Given the description of an element on the screen output the (x, y) to click on. 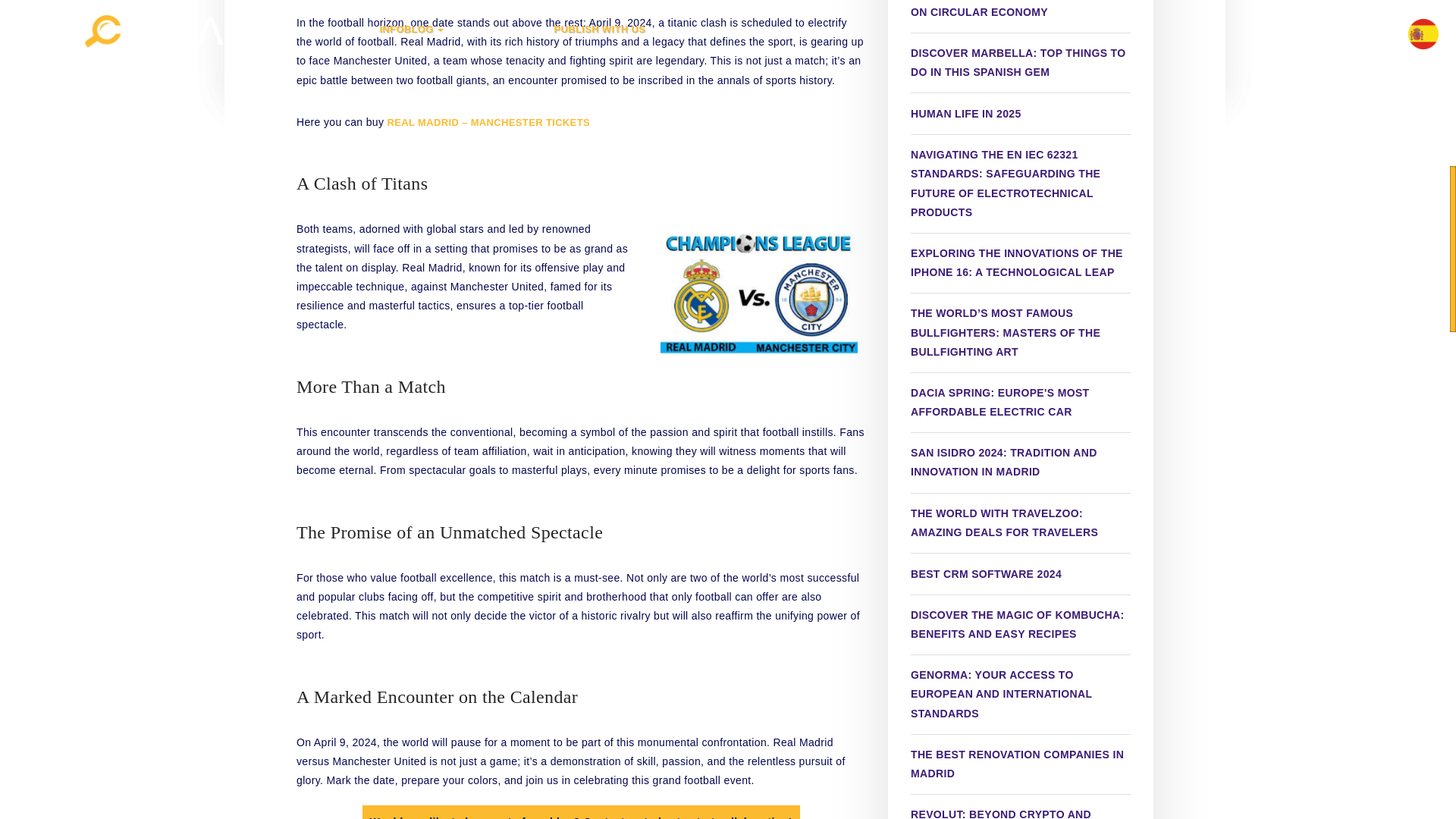
HUMAN LIFE IN 2025 (966, 113)
DISCOVER MARBELLA: TOP THINGS TO DO IN THIS SPANISH GEM (1021, 62)
EMBRACING THE FUTURE: STANDARDS ON CIRCULAR ECONOMY (1021, 13)
